Given the description of an element on the screen output the (x, y) to click on. 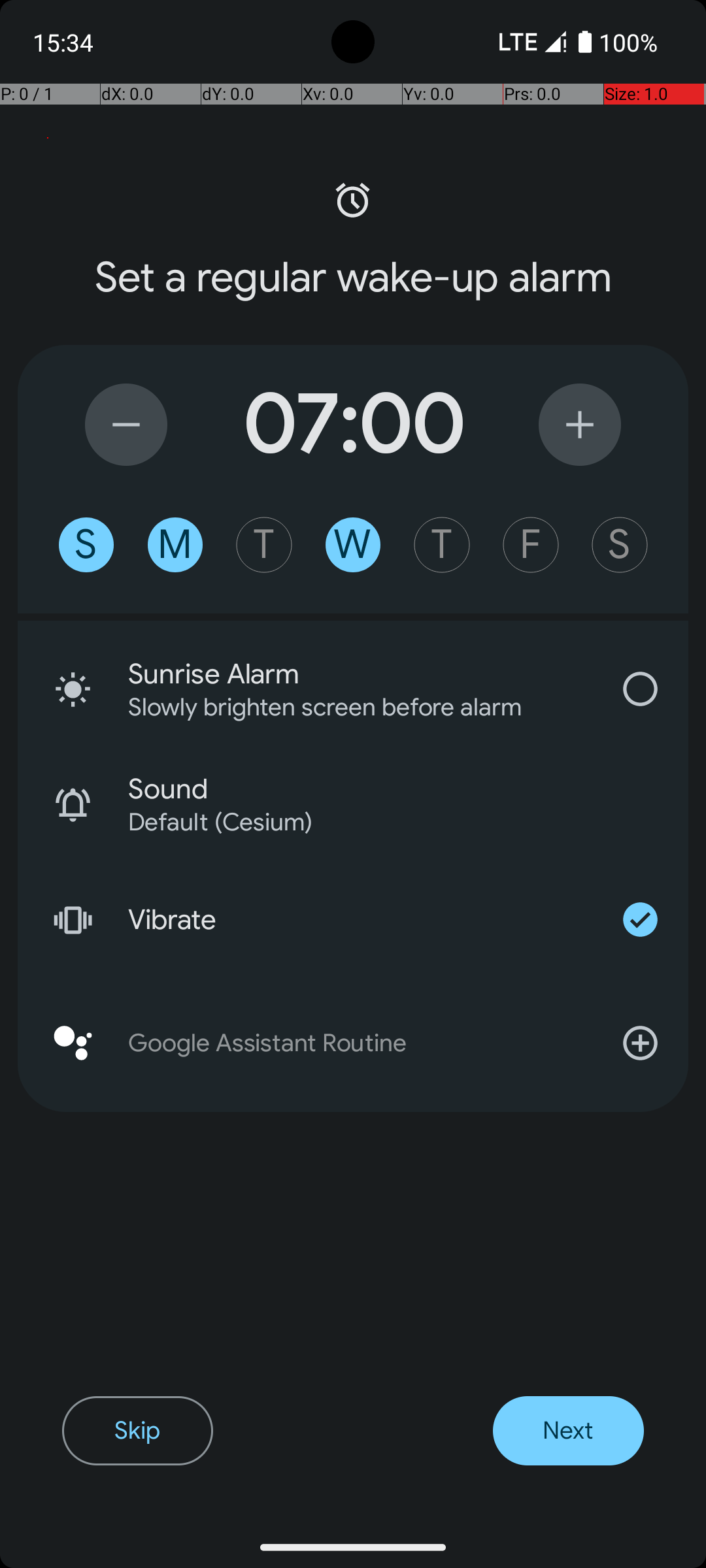
Set a regular wake-up alarm Element type: android.widget.TextView (352, 277)
Fifteen minutes earlier Element type: android.widget.ImageView (125, 424)
07:00 Element type: android.widget.TextView (353, 424)
Fifteen minutes later Element type: android.widget.ImageView (579, 424)
Google Assistant Routine Element type: android.widget.TextView (352, 1043)
Skip Element type: android.widget.Button (137, 1430)
Sunrise Alarm Element type: android.widget.TextView (360, 673)
Slowly brighten screen before alarm Element type: android.widget.TextView (342, 706)
Sound Element type: android.widget.TextView (408, 788)
